Given the description of an element on the screen output the (x, y) to click on. 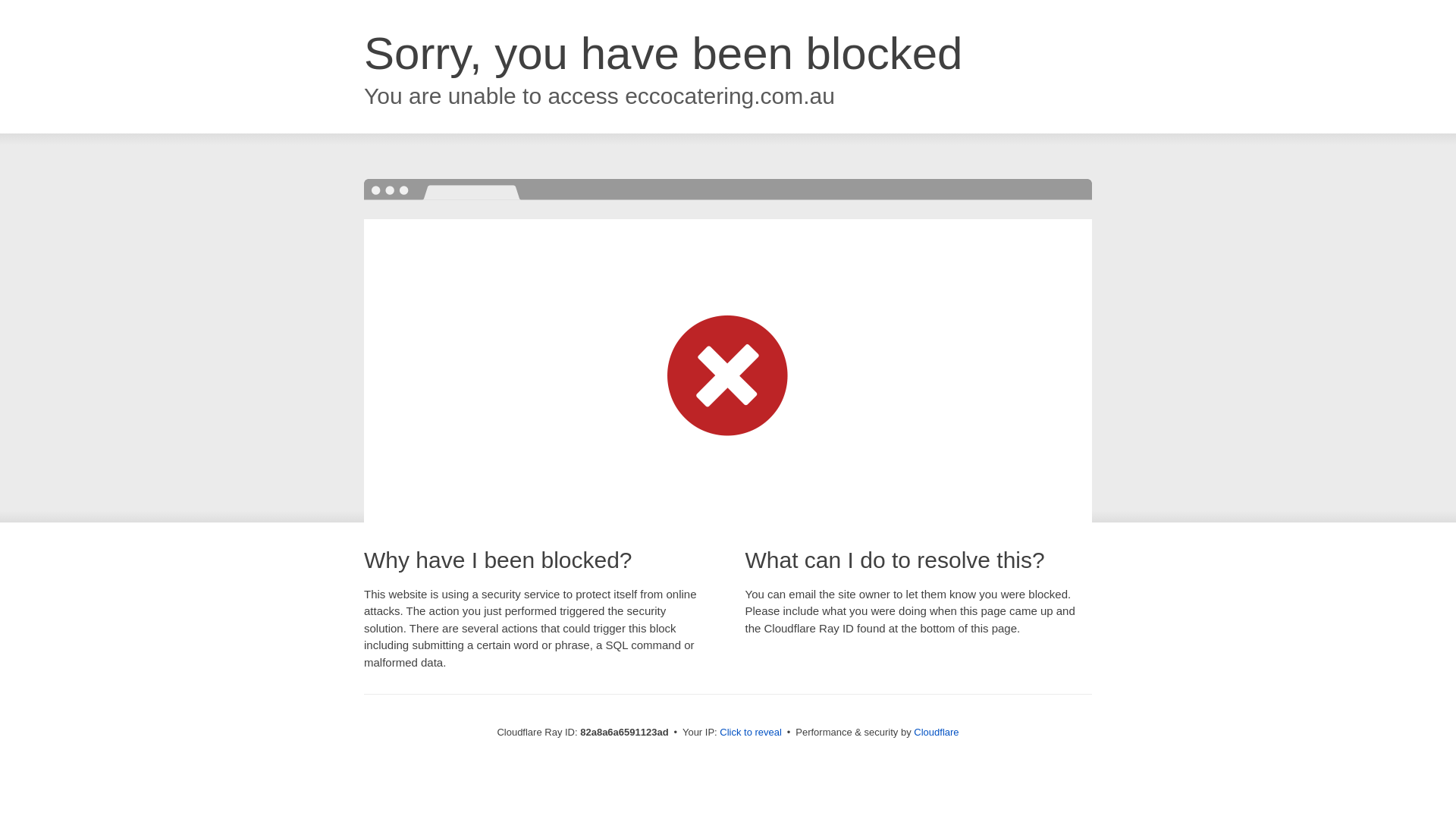
Click to reveal Element type: text (750, 732)
Cloudflare Element type: text (935, 731)
